Given the description of an element on the screen output the (x, y) to click on. 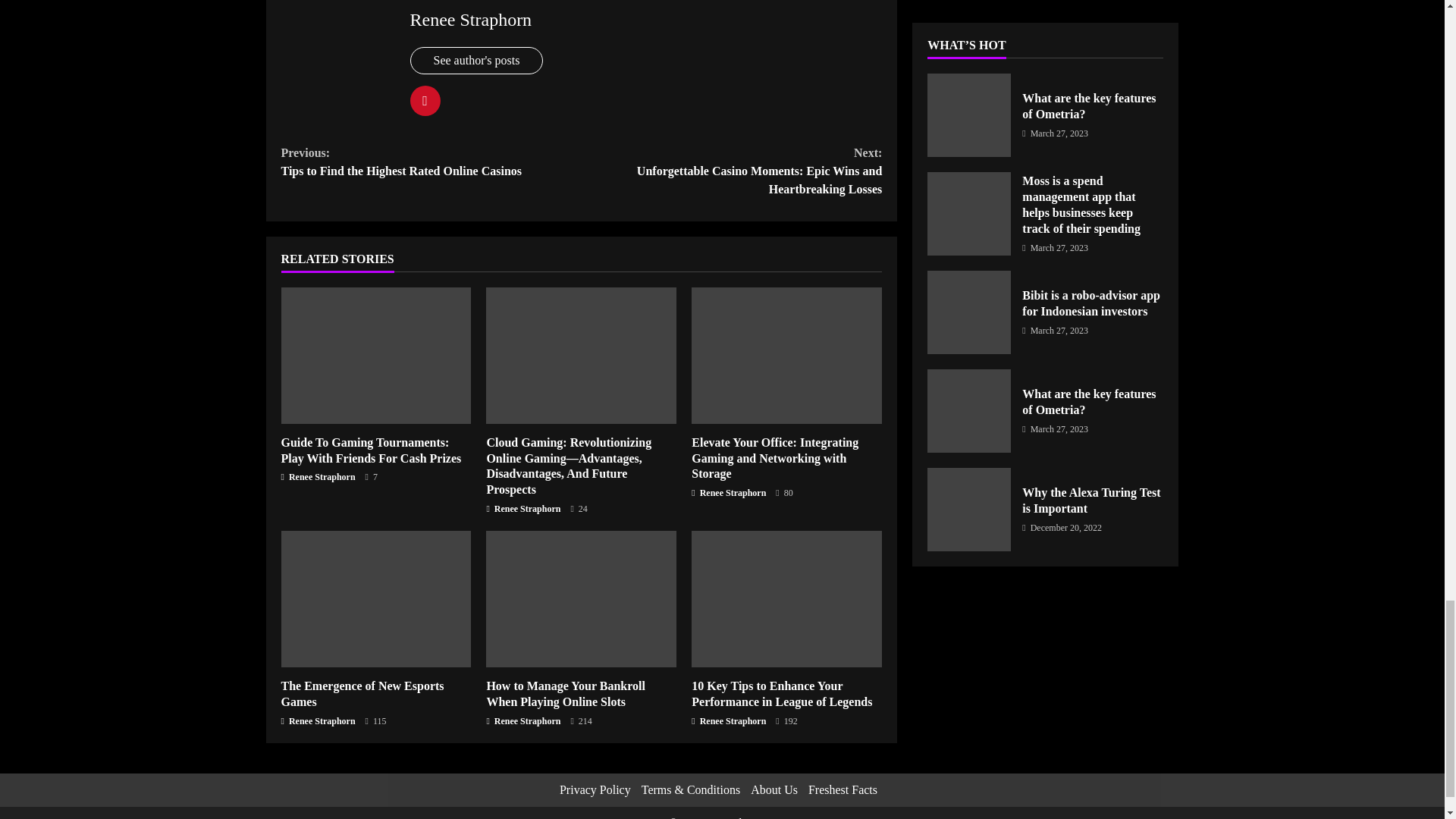
Renee Straphorn (318, 477)
24 (578, 509)
The Emergence of New Esports Games (375, 598)
The Emergence of New Esports Games (362, 693)
80 (784, 492)
See author's posts (476, 60)
Renee Straphorn (470, 19)
